Given the description of an element on the screen output the (x, y) to click on. 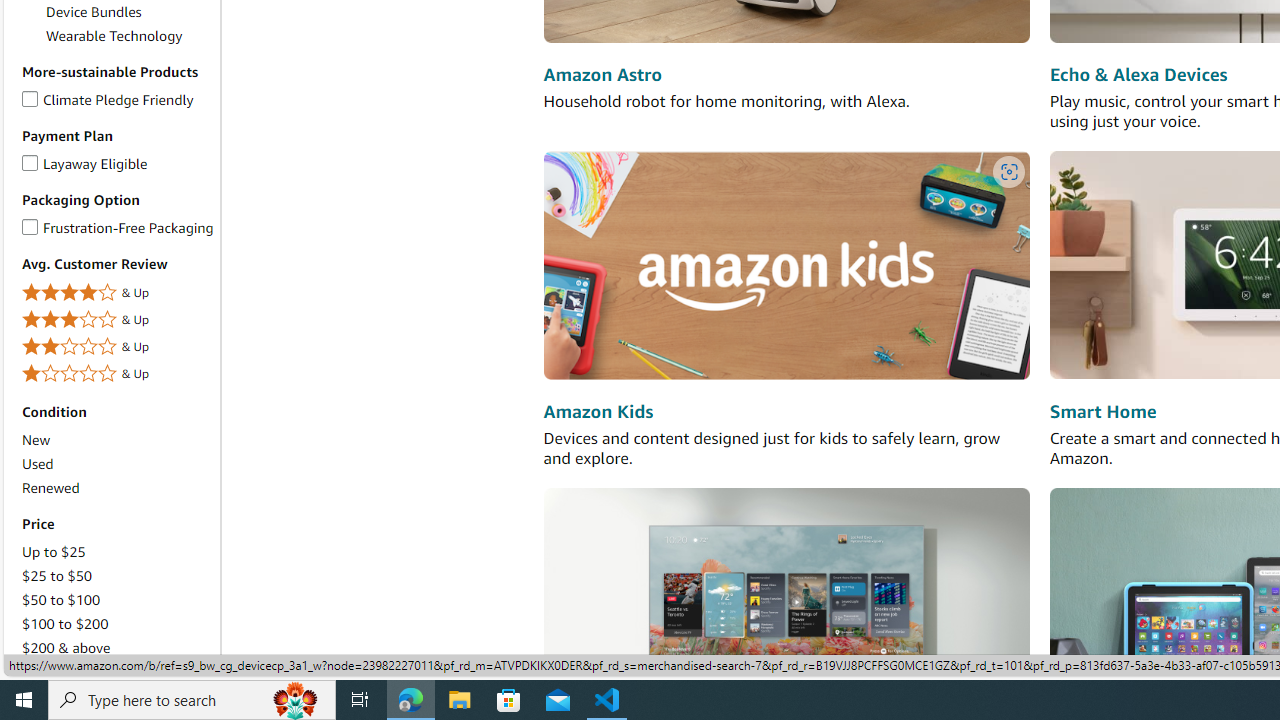
Layaway Eligible Layaway Eligible (84, 162)
Wearable Technology (129, 35)
Frustration-Free PackagingFrustration-Free Packaging (117, 228)
4 Stars & Up (117, 292)
4 Stars & Up& Up (117, 293)
Renewed (117, 488)
$50 to $100 (61, 600)
Amazon Kids (598, 411)
$25 to $50 (117, 575)
Fire TV devices (786, 600)
Amazon Astro (601, 75)
$25 to $50 (57, 575)
Amazon Kids (786, 265)
Smart Home (1103, 411)
Layaway EligibleLayaway Eligible (117, 164)
